Given the description of an element on the screen output the (x, y) to click on. 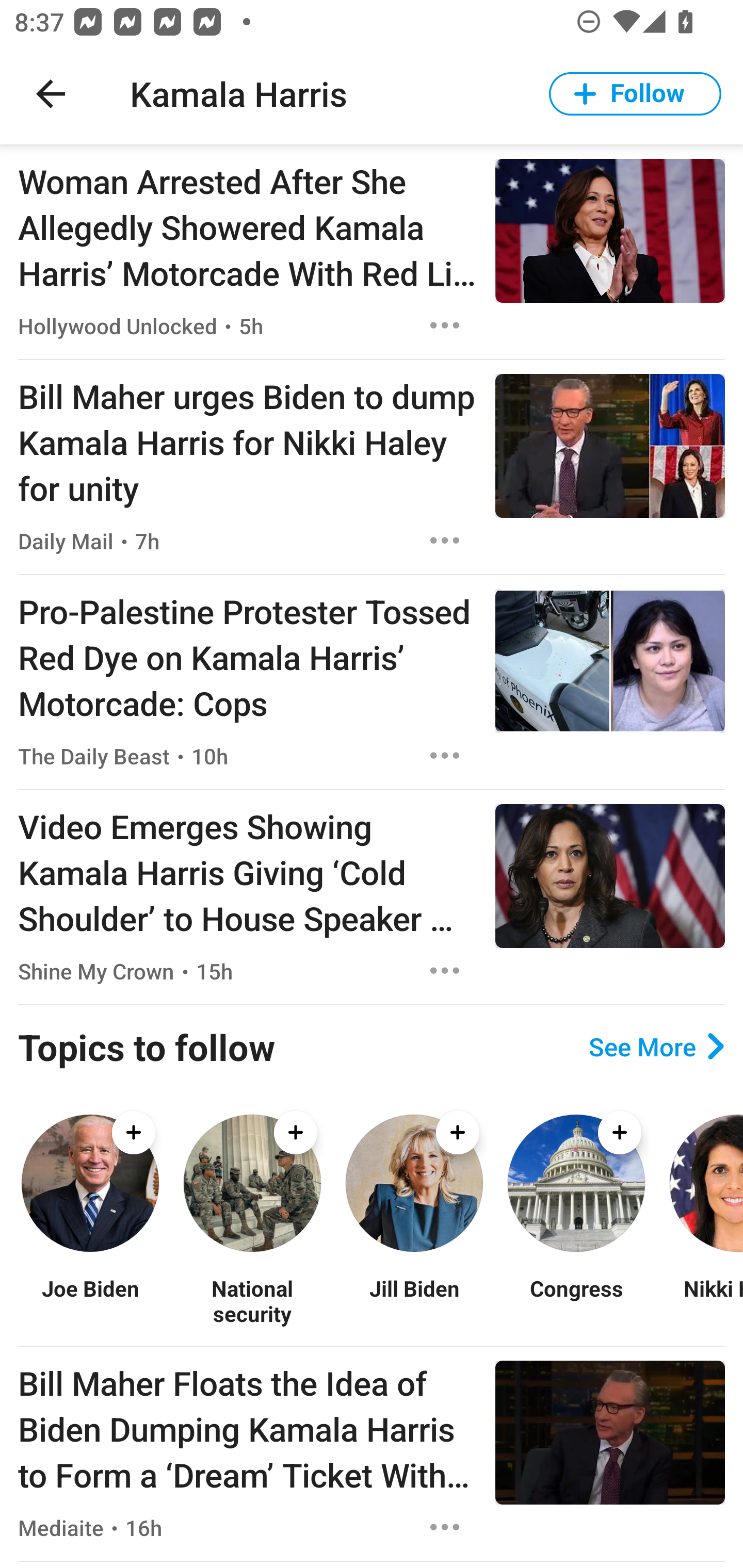
Navigate up (50, 93)
Follow (635, 94)
Options (444, 325)
Options (444, 540)
Options (444, 755)
Options (444, 970)
See More (656, 1046)
Joe Biden (89, 1300)
National security (251, 1300)
Jill Biden (413, 1300)
Congress (575, 1300)
Options (444, 1527)
